Given the description of an element on the screen output the (x, y) to click on. 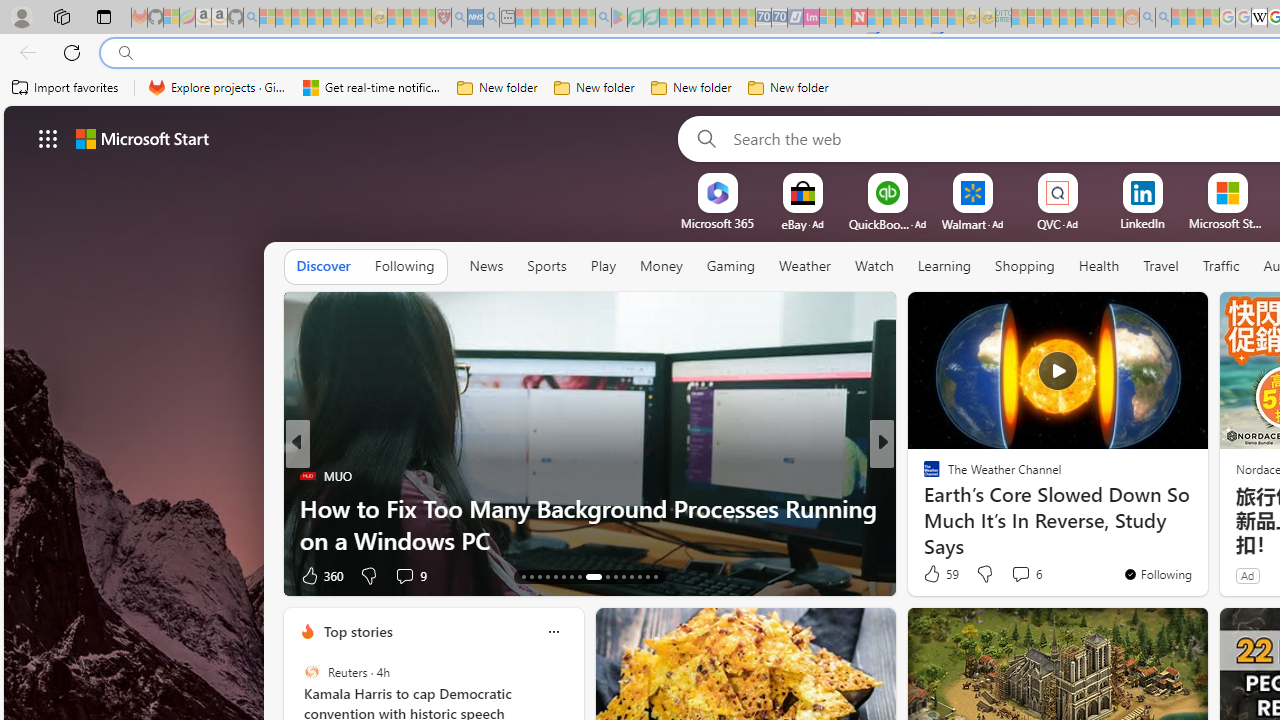
Watch (874, 267)
LinkedIn (1142, 223)
View comments 8 Comment (1019, 574)
You're following The Weather Channel (1157, 573)
Cheap Hotels - Save70.com - Sleeping (779, 17)
AutomationID: tab-27 (646, 576)
